Given the description of an element on the screen output the (x, y) to click on. 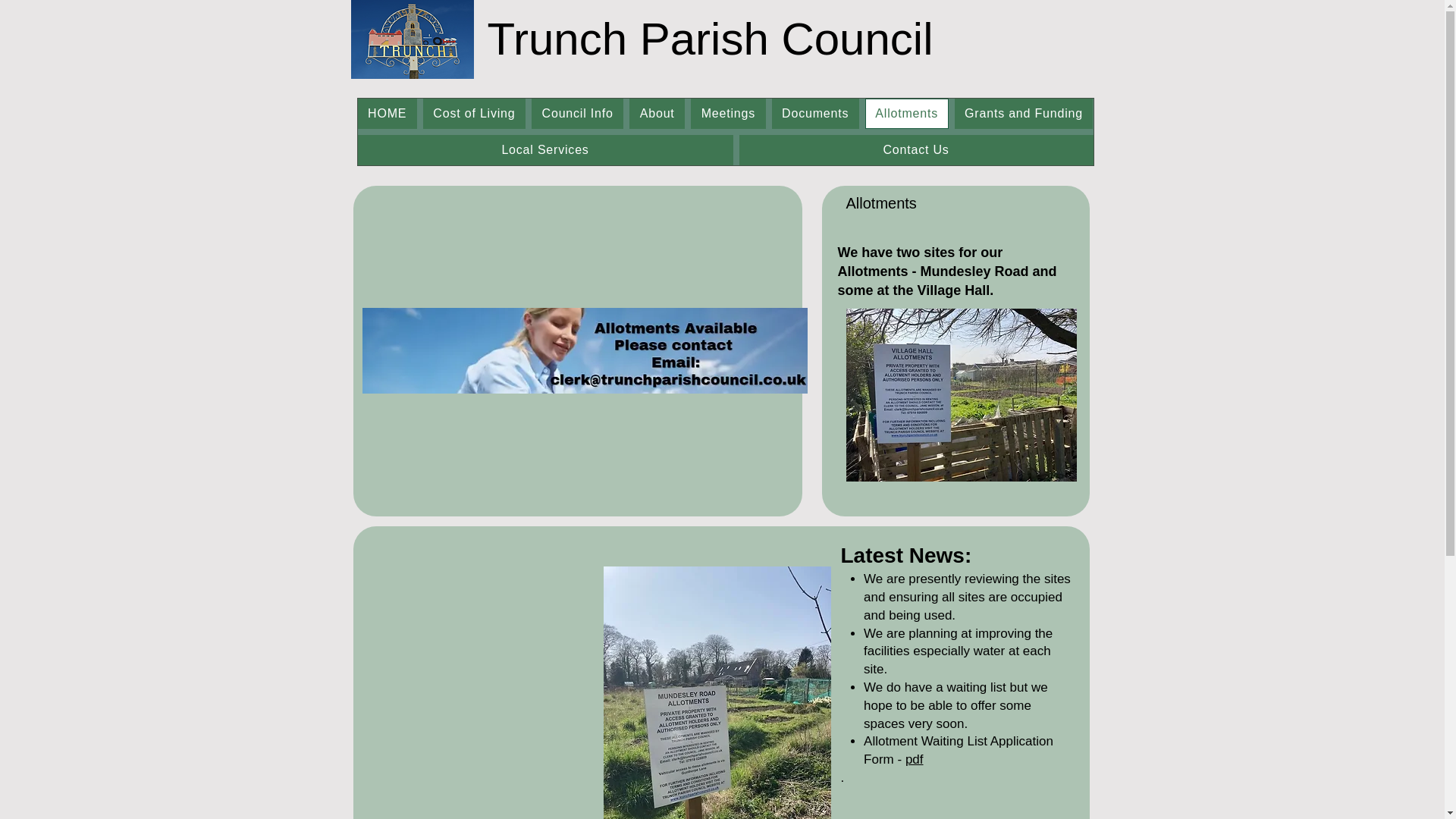
Council Info (577, 113)
Meetings (727, 113)
Cost of Living (474, 113)
HOME (387, 113)
Documents (815, 113)
About (656, 113)
Allotments (906, 113)
Grants and Funding (1024, 113)
pdf (914, 759)
Contact Us (916, 150)
Local Services (545, 150)
